Given the description of an element on the screen output the (x, y) to click on. 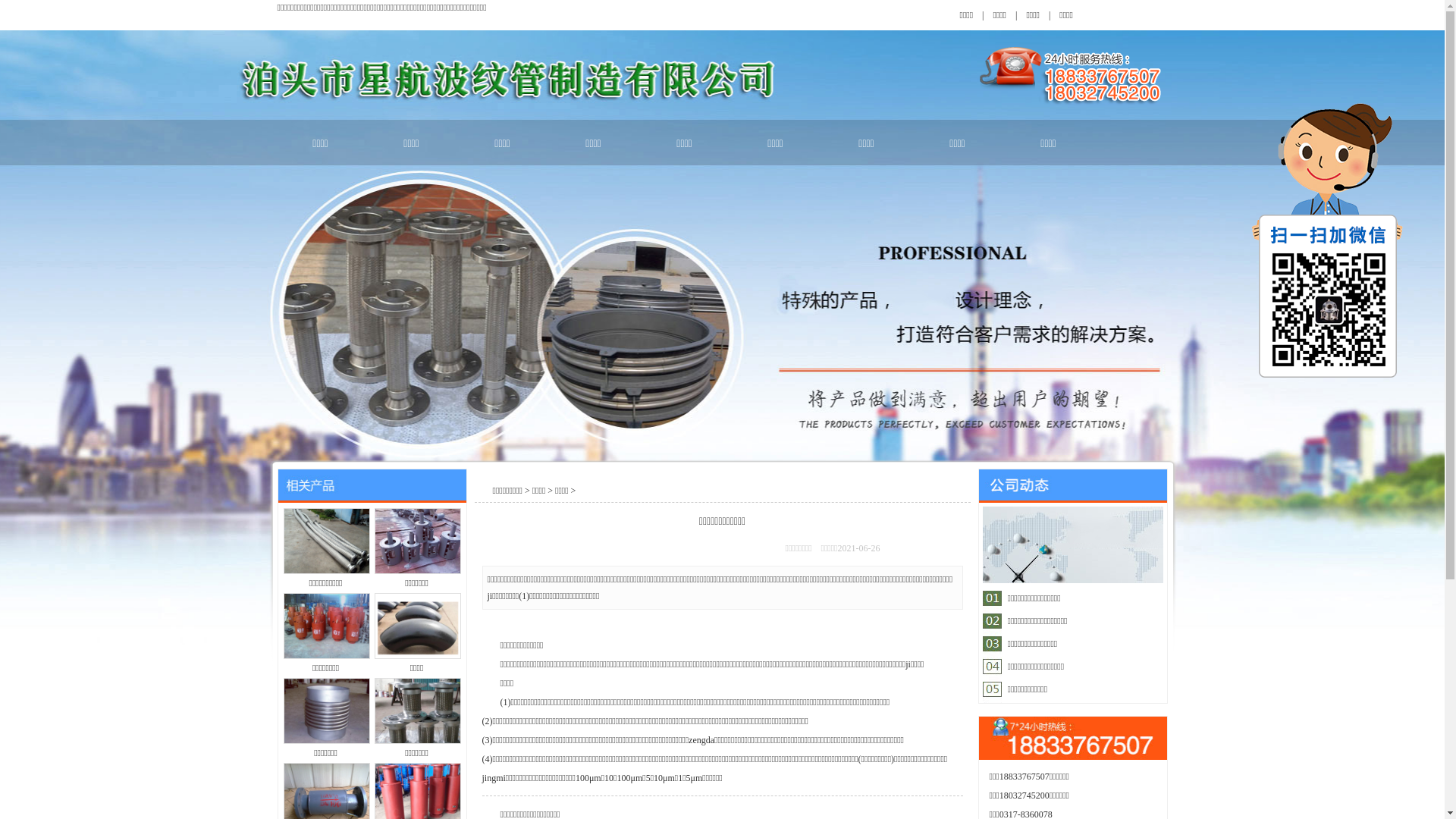
1 Element type: text (1036, 598)
3 Element type: text (1074, 598)
2 Element type: text (1056, 598)
